Given the description of an element on the screen output the (x, y) to click on. 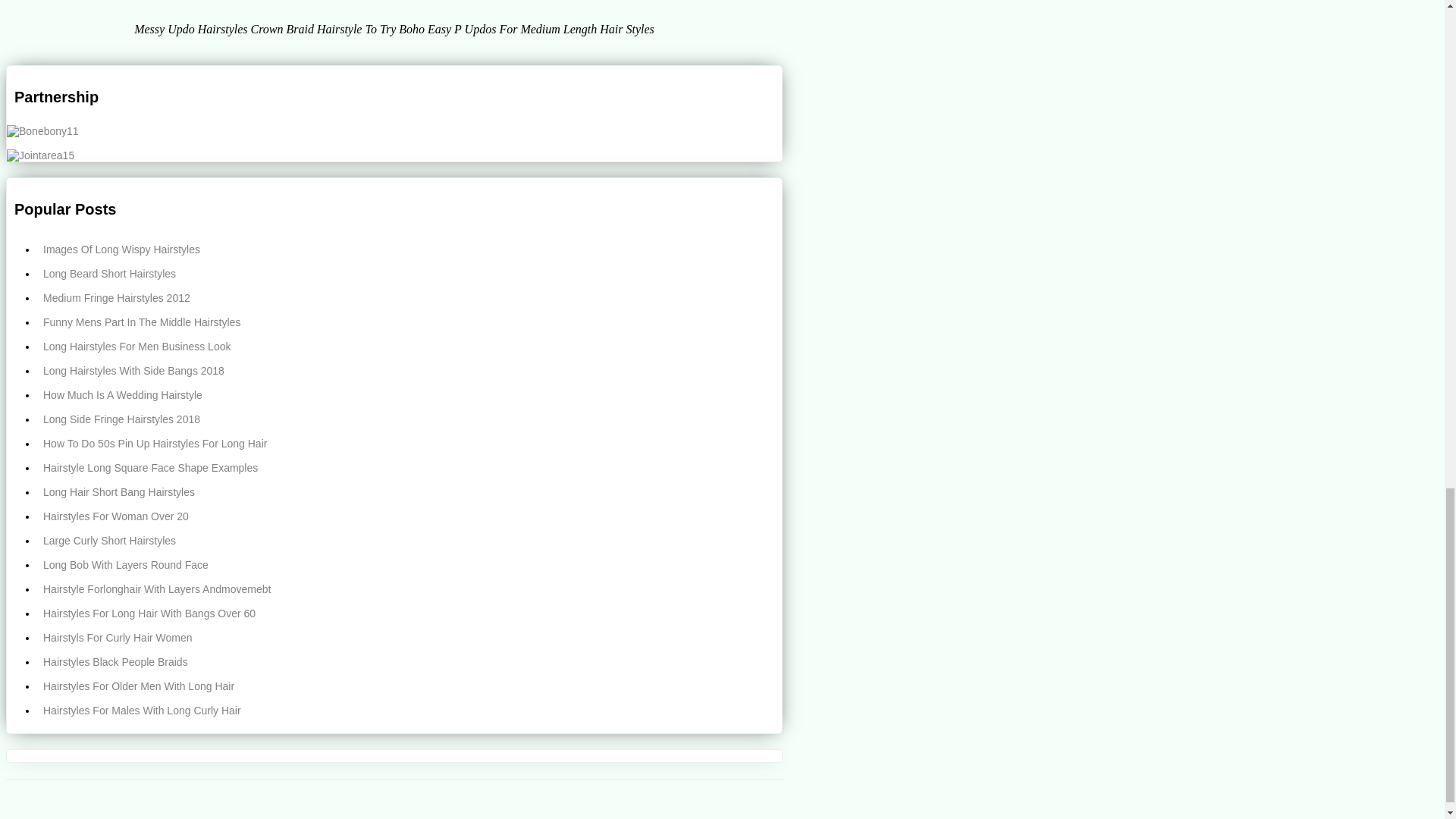
Images Of Long Wispy Hairstyles (409, 249)
Large Curly Short Hairstyles (409, 540)
Bonebony11 (42, 131)
Hairstyle Long Square Face Shape Examples (409, 467)
Long Beard Short Hairstyles (409, 273)
How To Do 50s Pin Up Hairstyles For Long Hair (409, 443)
Hairstyles For Woman Over 20 (409, 516)
Long Hairstyles For Men Business Look (409, 346)
Long Bob With Layers Round Face (409, 564)
How Much Is A Wedding Hairstyle (409, 395)
